Given the description of an element on the screen output the (x, y) to click on. 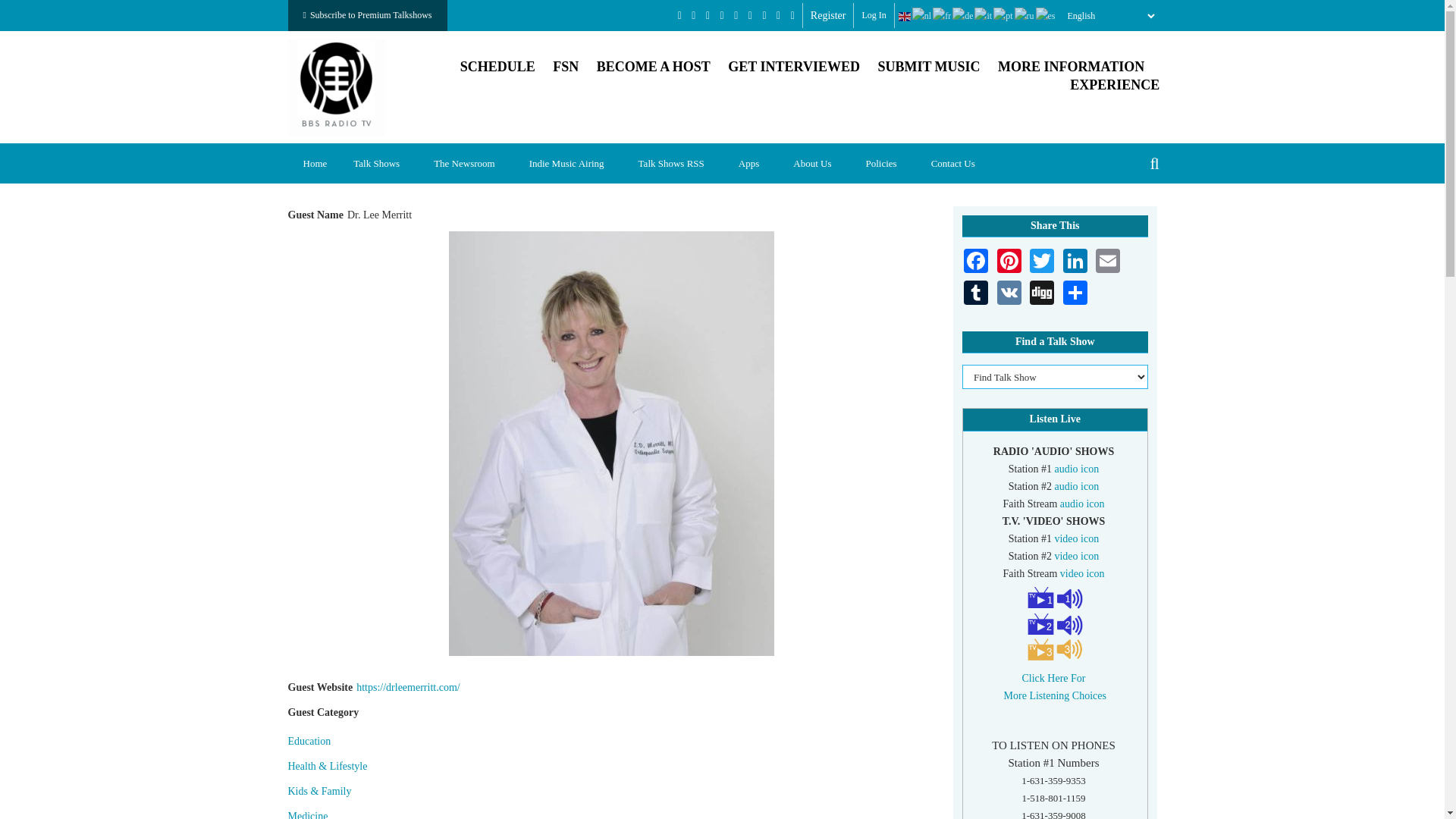
BBS Radio TV Live Audio Stream for Station 1 (1076, 469)
GET INTERVIEWED (794, 66)
SUBMIT MUSIC (928, 66)
BBS Radio TV Live Video Stream for Station 1 (1076, 538)
BECOME A HOST (653, 66)
Deutsch (963, 15)
EXPERIENCE (1114, 84)
Italiano (983, 15)
Log In (873, 14)
